Given the description of an element on the screen output the (x, y) to click on. 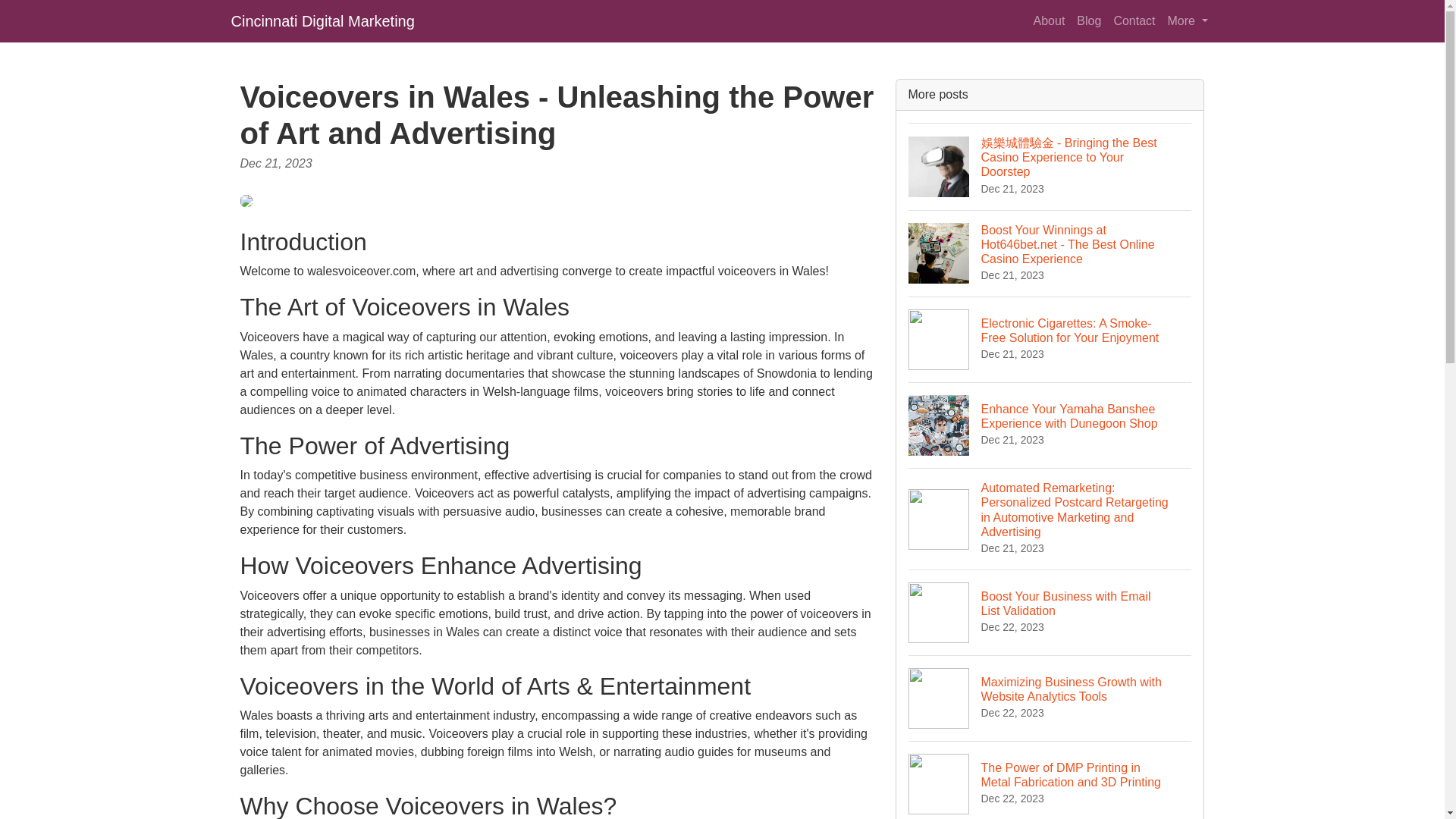
Cincinnati Digital Marketing (321, 20)
About (1049, 20)
Blog (1088, 20)
Contact (1133, 20)
More (1187, 20)
